Given the description of an element on the screen output the (x, y) to click on. 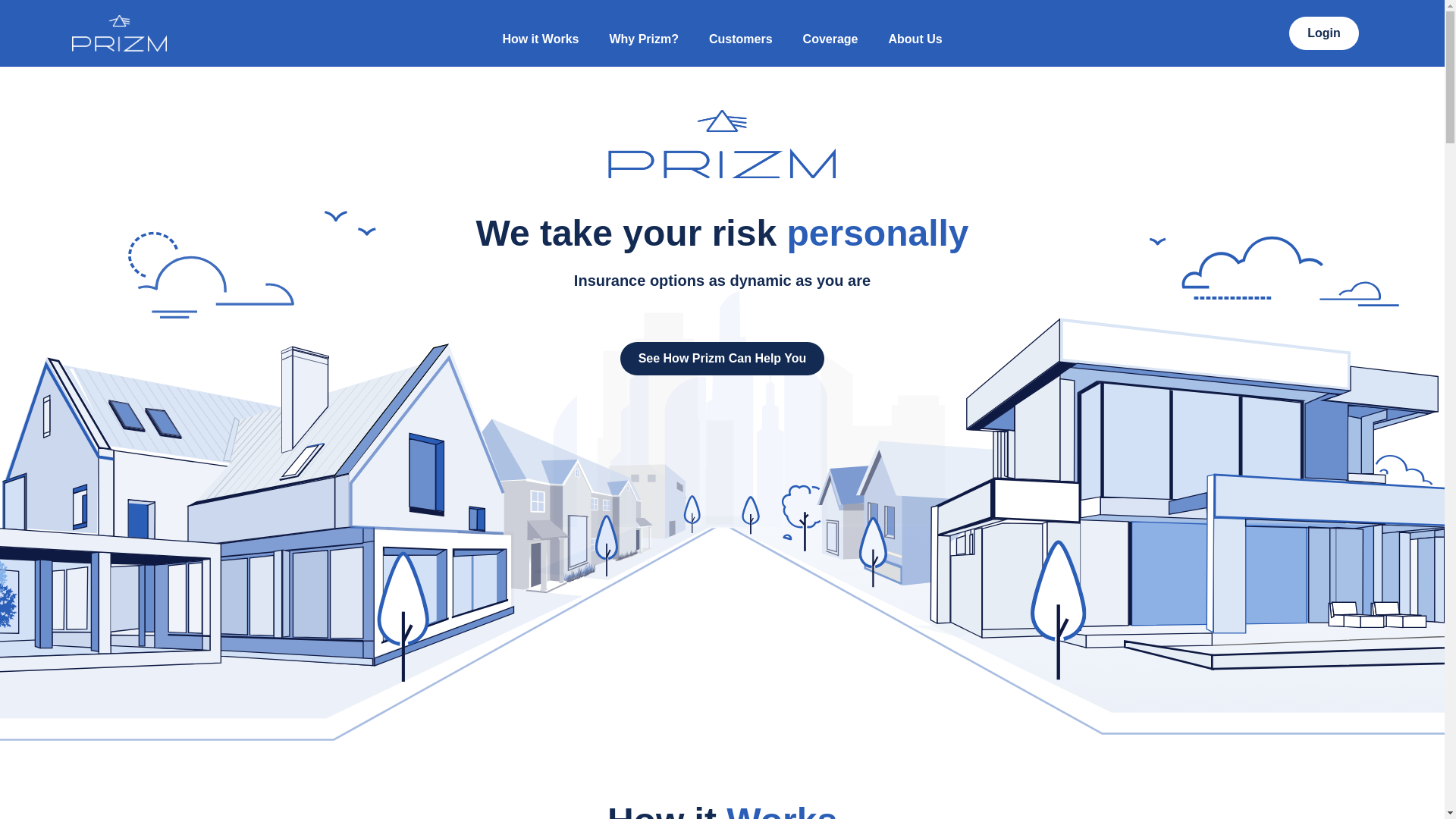
Coverage (830, 31)
Customers (740, 31)
Login (1323, 32)
See How Prizm Can Help You (722, 358)
About Us (915, 31)
How it Works (540, 31)
Why Prizm? (644, 31)
